Given the description of an element on the screen output the (x, y) to click on. 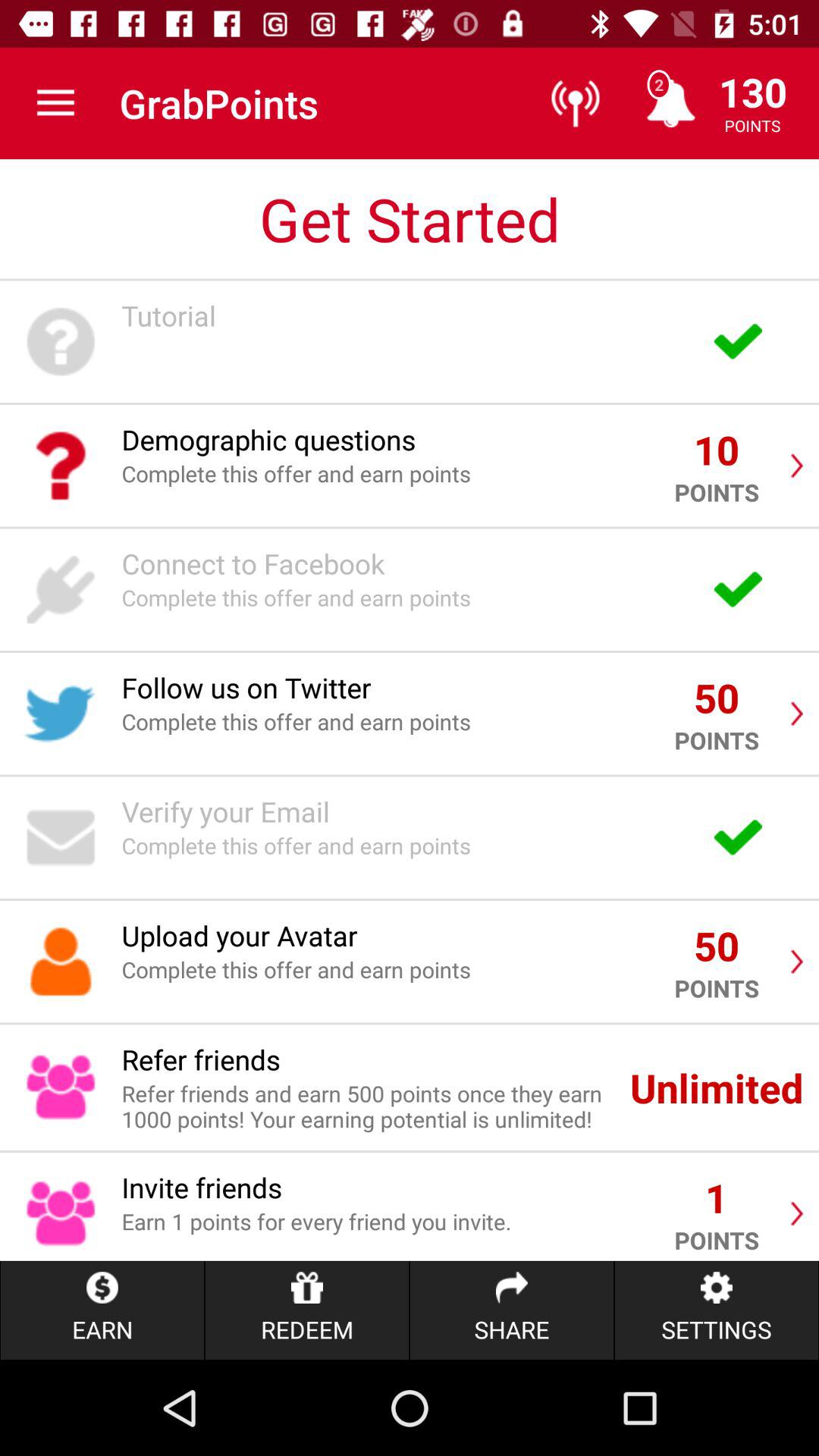
press icon next to earn item (306, 1310)
